Given the description of an element on the screen output the (x, y) to click on. 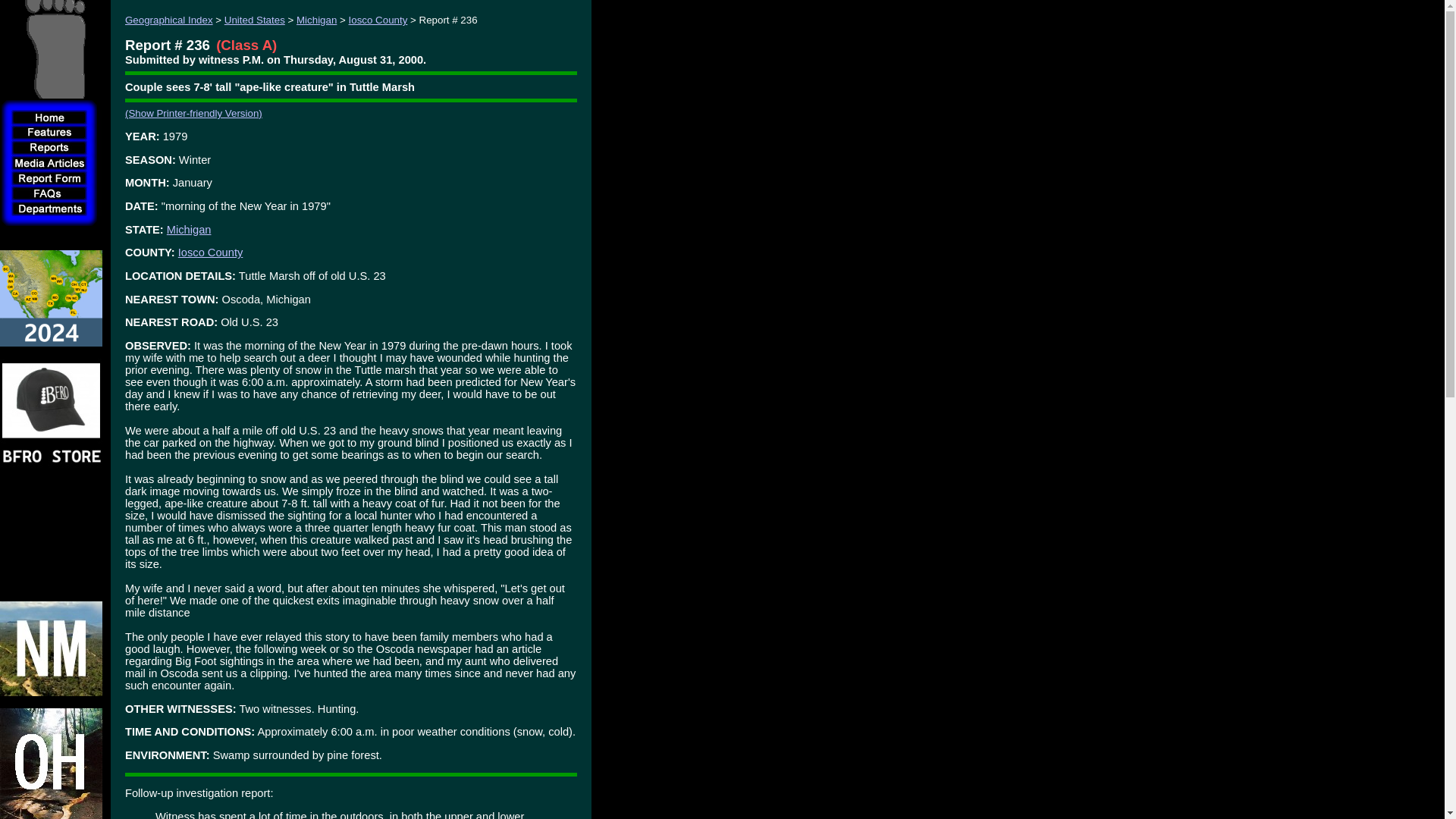
Michigan (316, 19)
Michigan (189, 229)
Iosco County (210, 252)
United States (254, 19)
Geographical Index (168, 19)
Iosco County (378, 19)
